Given the description of an element on the screen output the (x, y) to click on. 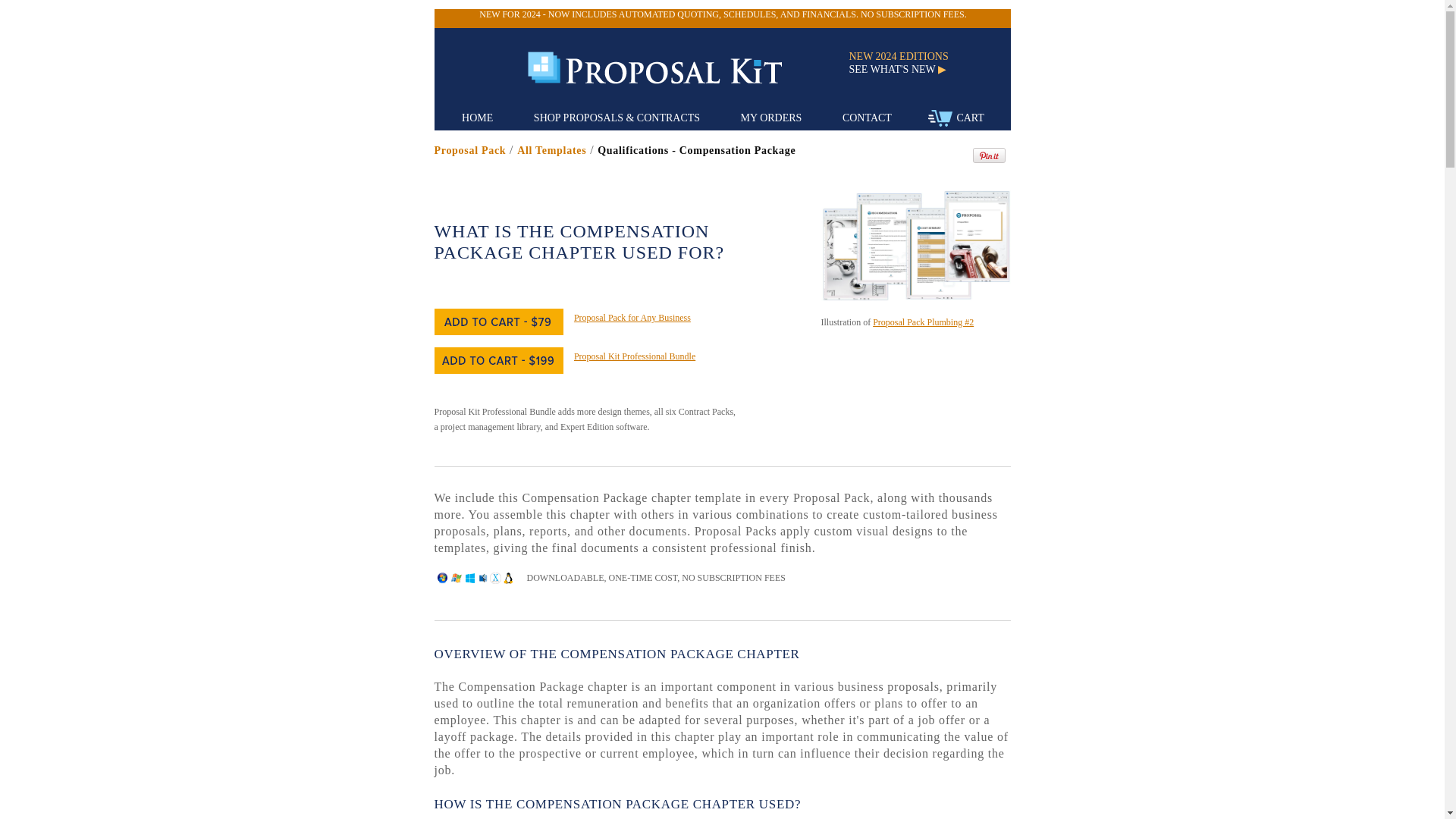
Proposal Kit Product Upgrades (905, 69)
Shopping Cart (940, 118)
Major Proposal Kit version upgrade just released. (722, 14)
Business Proposal Compensation Package Template (551, 150)
Proposal Kit Professional Bundle (634, 356)
Proposal Kit Home (654, 67)
CONTACT (867, 118)
Proposal Pack Template Compensation Package (469, 150)
Proposal Pack for Any Business (631, 317)
Proposal Kit Home (477, 118)
MY ORDERS (771, 118)
Proposal Kit - It's all About Trust (667, 68)
How to Contact Proposal Kit (867, 118)
